Given the description of an element on the screen output the (x, y) to click on. 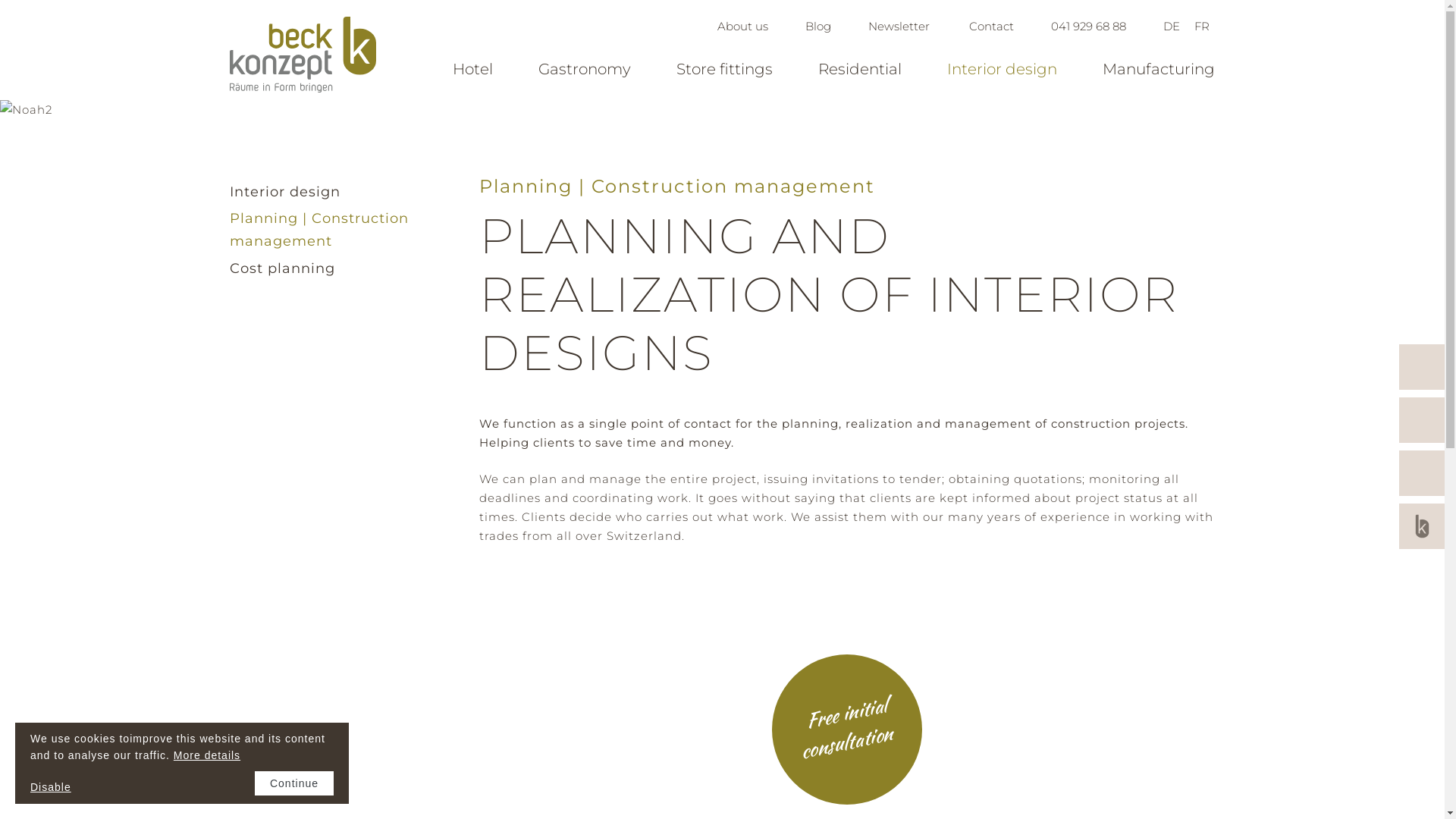
beck konzept ag - Well-designed rooms Element type: hover (302, 54)
Free initial
consultation Element type: text (850, 710)
Cost planning Element type: text (281, 268)
Interior design Element type: text (284, 191)
DE Element type: text (1171, 25)
Contact Element type: text (989, 25)
More details Element type: text (206, 755)
Residential Element type: text (859, 68)
Gastronomy Element type: text (584, 68)
Planning | Construction management Element type: text (318, 229)
Hotel Element type: text (472, 68)
Manufacturing Element type: text (1158, 68)
Blog Element type: text (818, 25)
About us Element type: text (742, 25)
Newsletter Element type: text (898, 25)
041 929 68 88 Element type: text (1088, 25)
FR Element type: text (1201, 25)
Store fittings Element type: text (724, 68)
Interior design Element type: text (1002, 68)
